Given the description of an element on the screen output the (x, y) to click on. 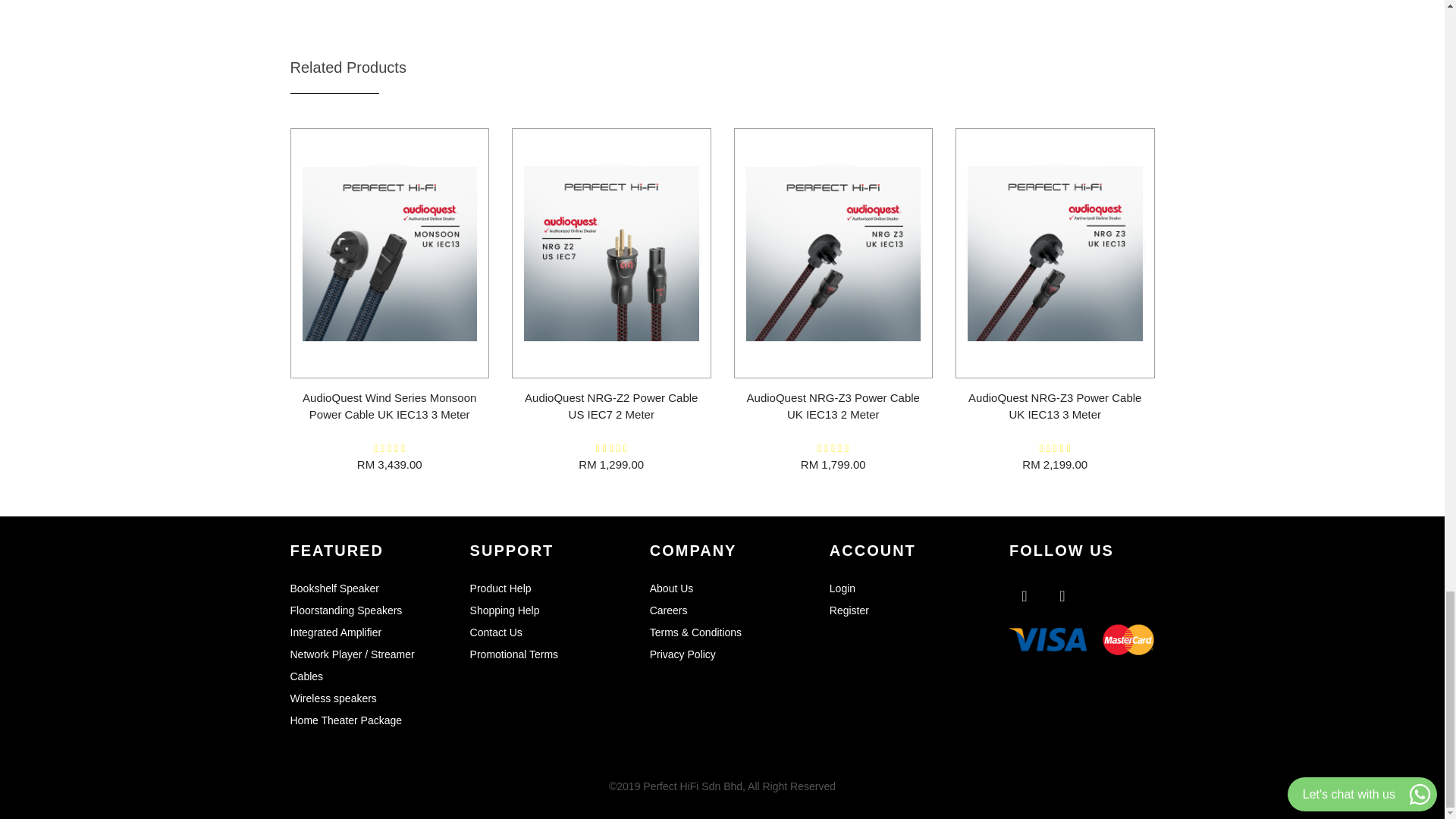
AudioQuest Wind Series Monsoon Power Cable UK IEC13 3 Meter (389, 406)
AudioQuest NRG-Z2 Power Cable US IEC7 2 Meter (610, 406)
AudioQuest NRG-Z3 Power Cable UK IEC13 2 Meter (833, 406)
Instagram (1061, 595)
Facebook (1024, 595)
AudioQuest NRG-Z3 Power Cable UK IEC13 3 Meter (1054, 406)
